Given the description of an element on the screen output the (x, y) to click on. 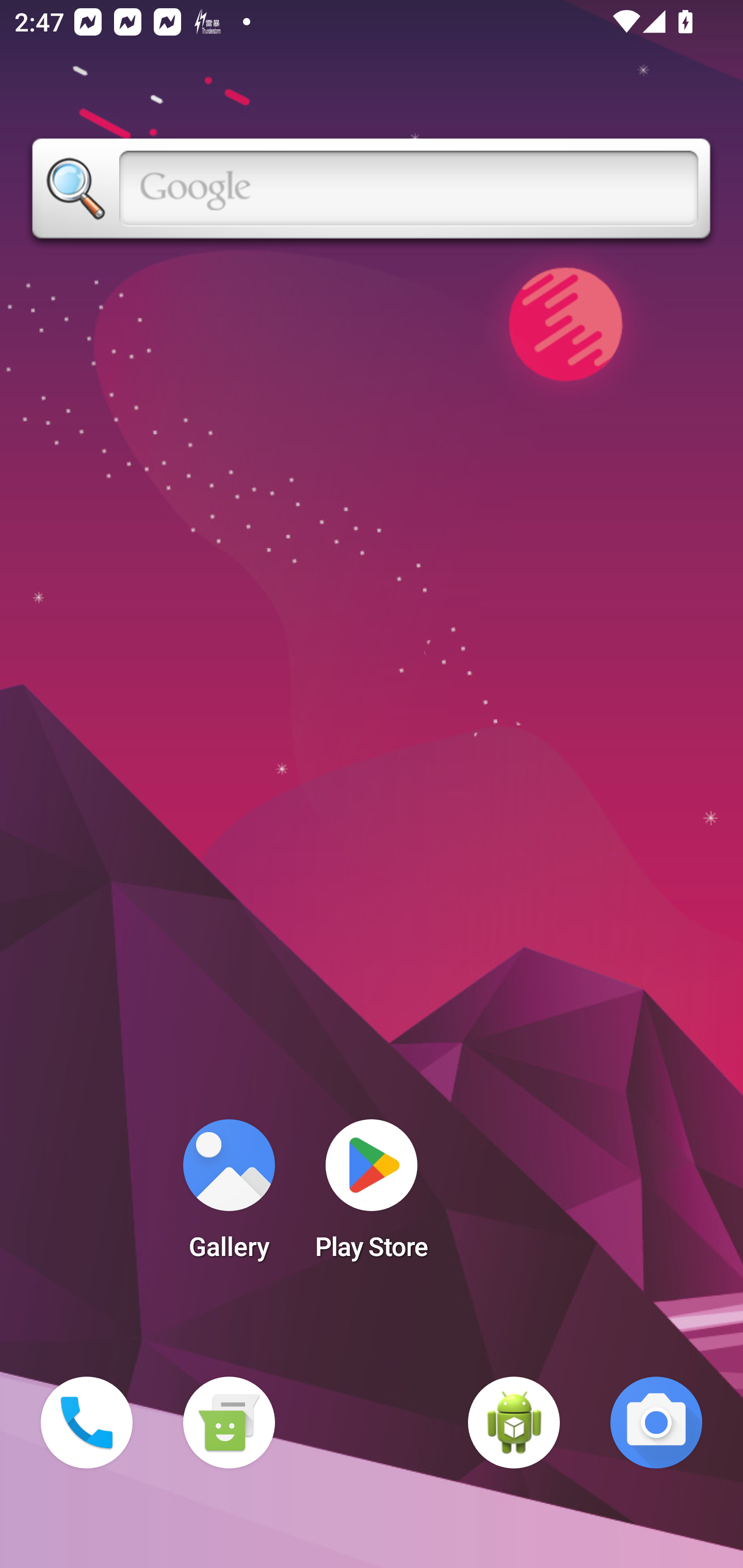
Gallery (228, 1195)
Play Store (371, 1195)
Phone (86, 1422)
Messaging (228, 1422)
WebView Browser Tester (513, 1422)
Camera (656, 1422)
